Given the description of an element on the screen output the (x, y) to click on. 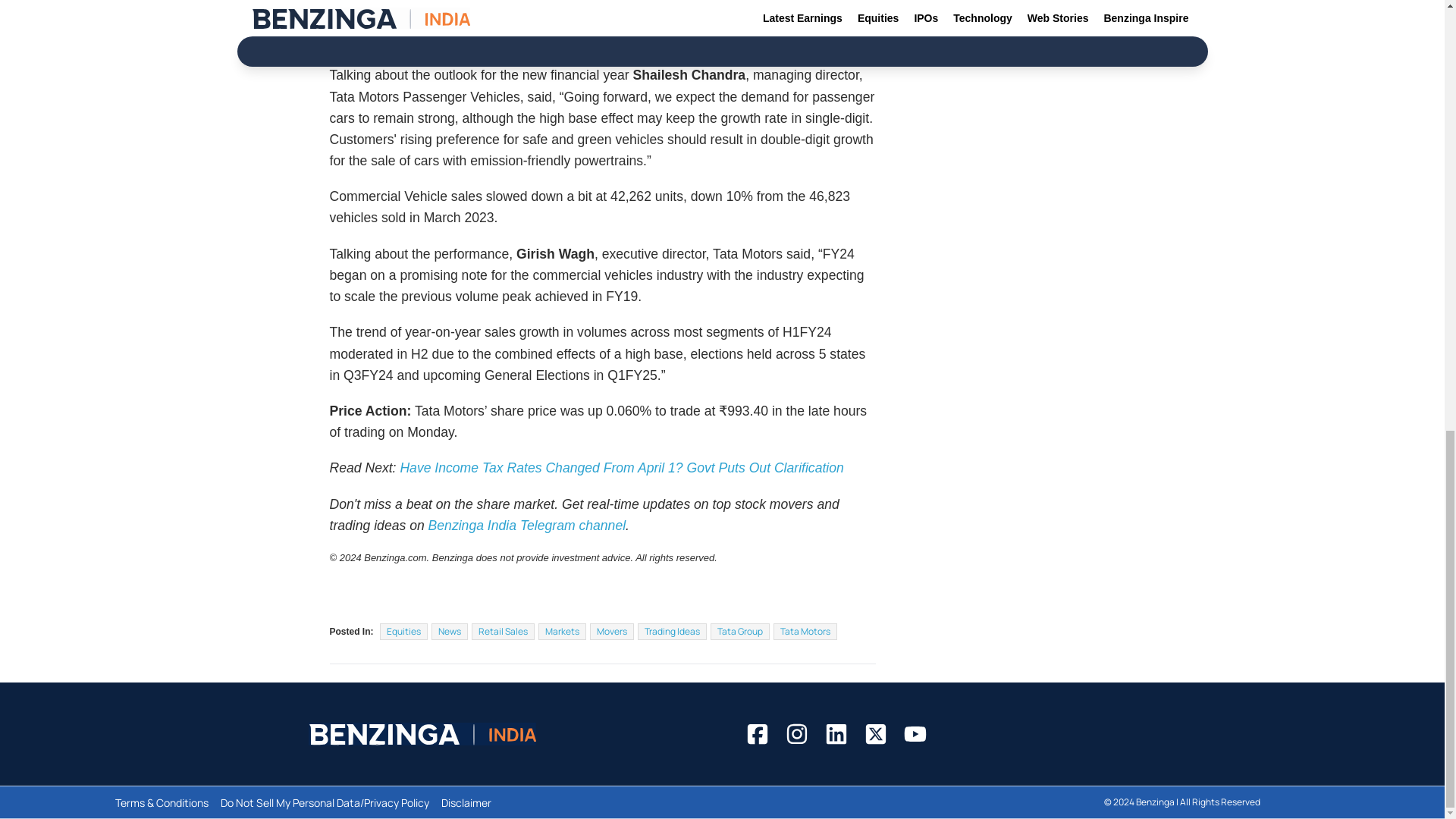
Retail Sales (502, 631)
Disclaimer (466, 802)
Equities (404, 631)
Movers (611, 631)
Tata Motors (805, 631)
Tata Group (740, 631)
News (448, 631)
Benzinga India Telegram channel (527, 525)
Trading Ideas (671, 631)
Markets (562, 631)
